Given the description of an element on the screen output the (x, y) to click on. 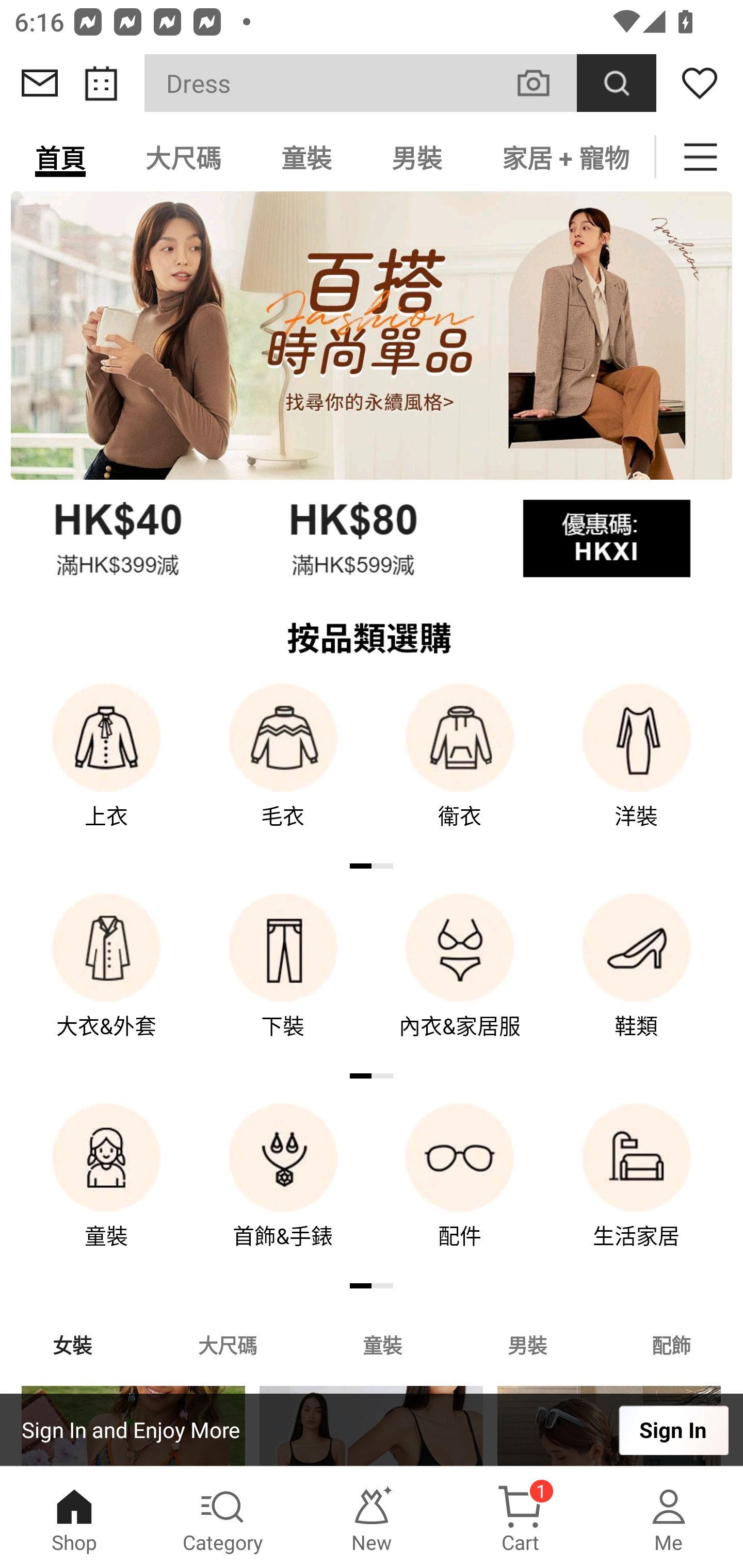
Wishlist (699, 82)
VISUAL SEARCH (543, 82)
首頁 (60, 156)
大尺碼 (183, 156)
童裝 (306, 156)
男裝 (416, 156)
家居 + 寵物 (563, 156)
上衣 (105, 769)
毛衣 (282, 769)
衛衣 (459, 769)
洋裝 (636, 769)
大衣&外套 (105, 979)
下裝 (282, 979)
內衣&家居服 (459, 979)
鞋類 (636, 979)
童裝 (105, 1189)
首飾&手錶 (282, 1189)
配件 (459, 1189)
生活家居 (636, 1189)
女裝 (72, 1344)
大尺碼 (226, 1344)
童裝 (381, 1344)
男裝 (527, 1344)
配飾 (671, 1344)
Sign In and Enjoy More Sign In (371, 1429)
Category (222, 1517)
New (371, 1517)
Cart 1 Cart (519, 1517)
Me (668, 1517)
